Given the description of an element on the screen output the (x, y) to click on. 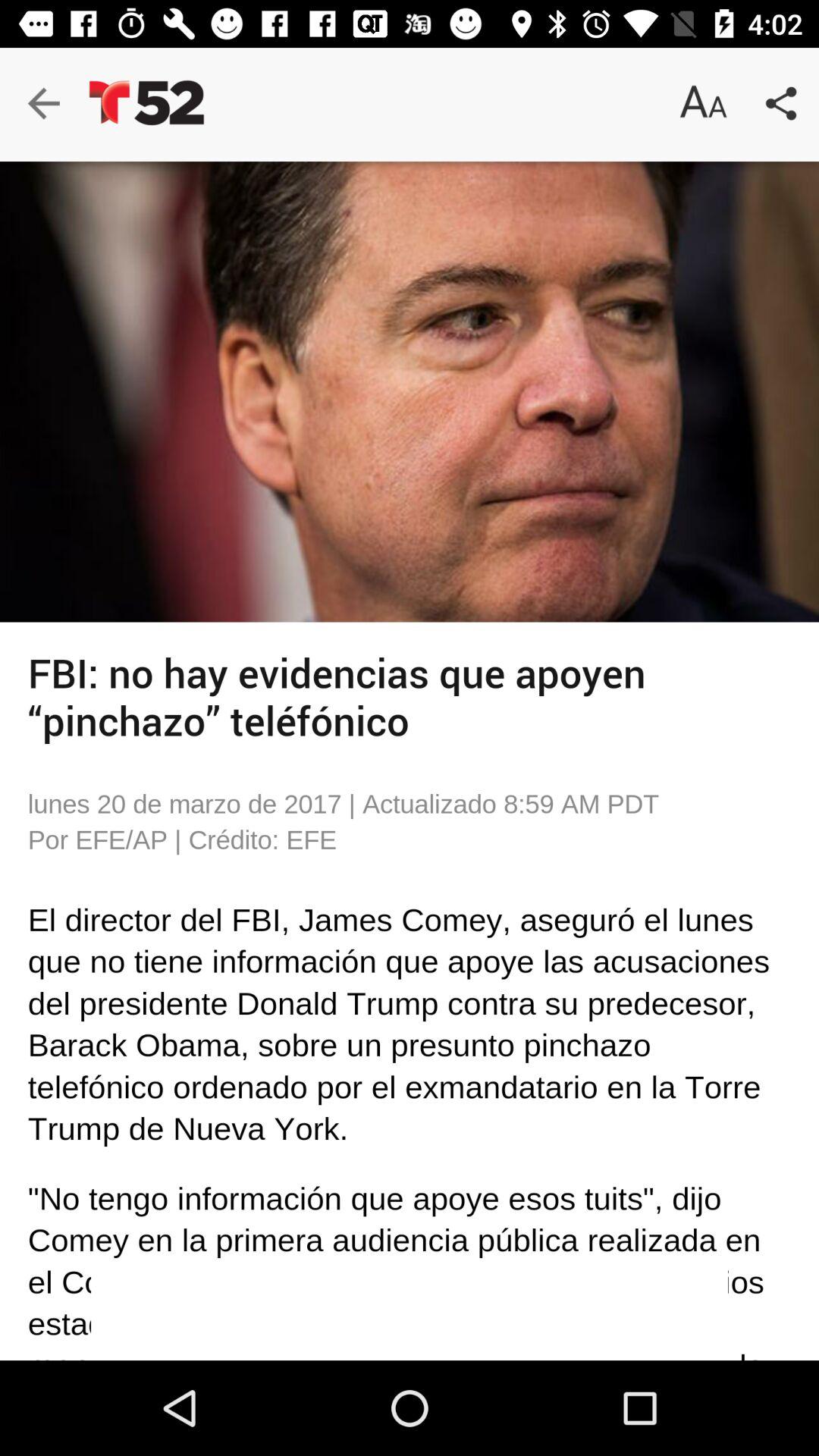
selecionar imagem (409, 391)
